Given the description of an element on the screen output the (x, y) to click on. 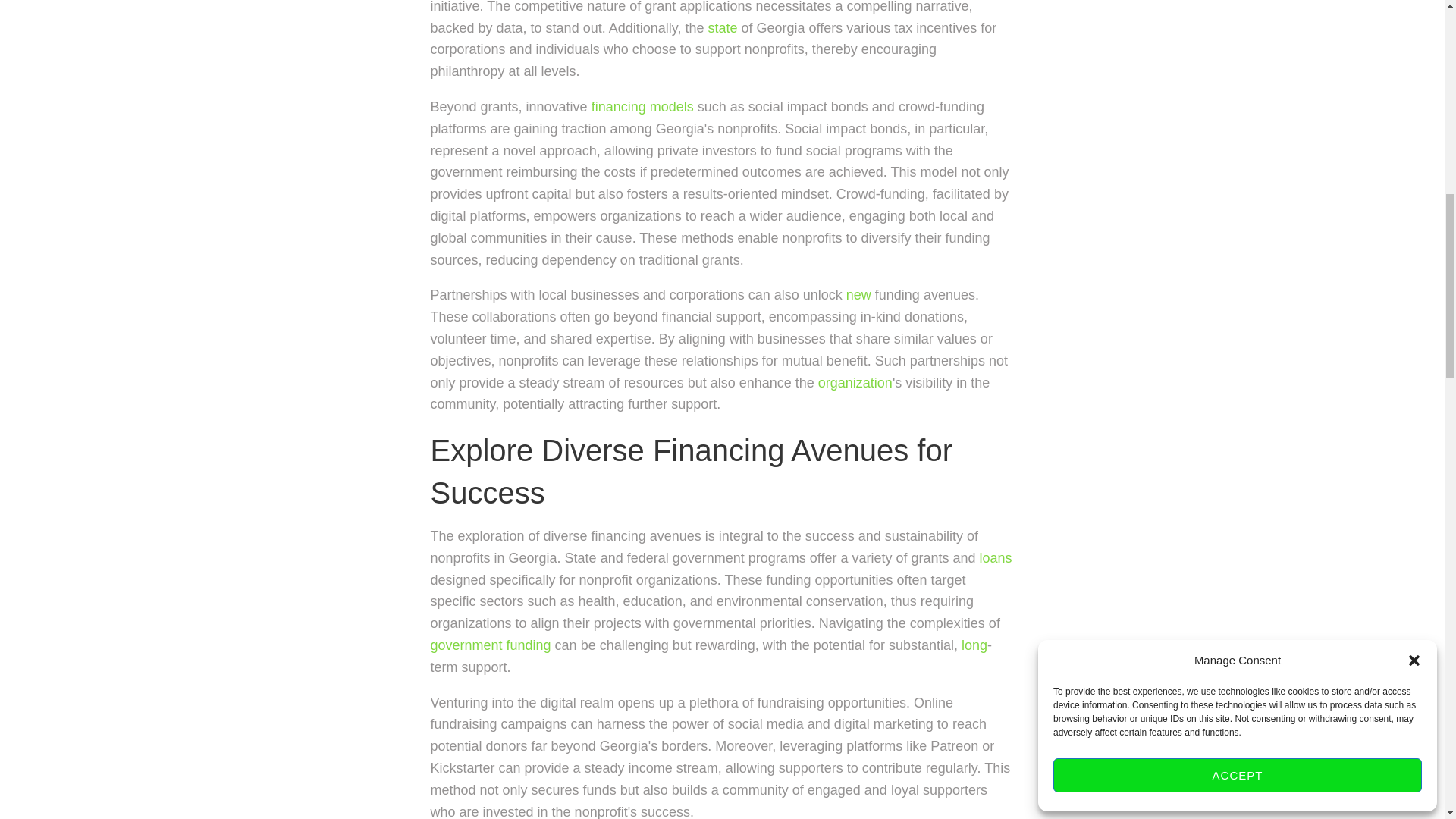
Posts tagged with new (857, 294)
Posts tagged with long (973, 645)
Posts tagged with financing models (642, 106)
Posts tagged with government funding (490, 645)
Posts tagged with organization (855, 381)
Posts tagged with Loans (995, 557)
Posts tagged with state (721, 28)
